Given the description of an element on the screen output the (x, y) to click on. 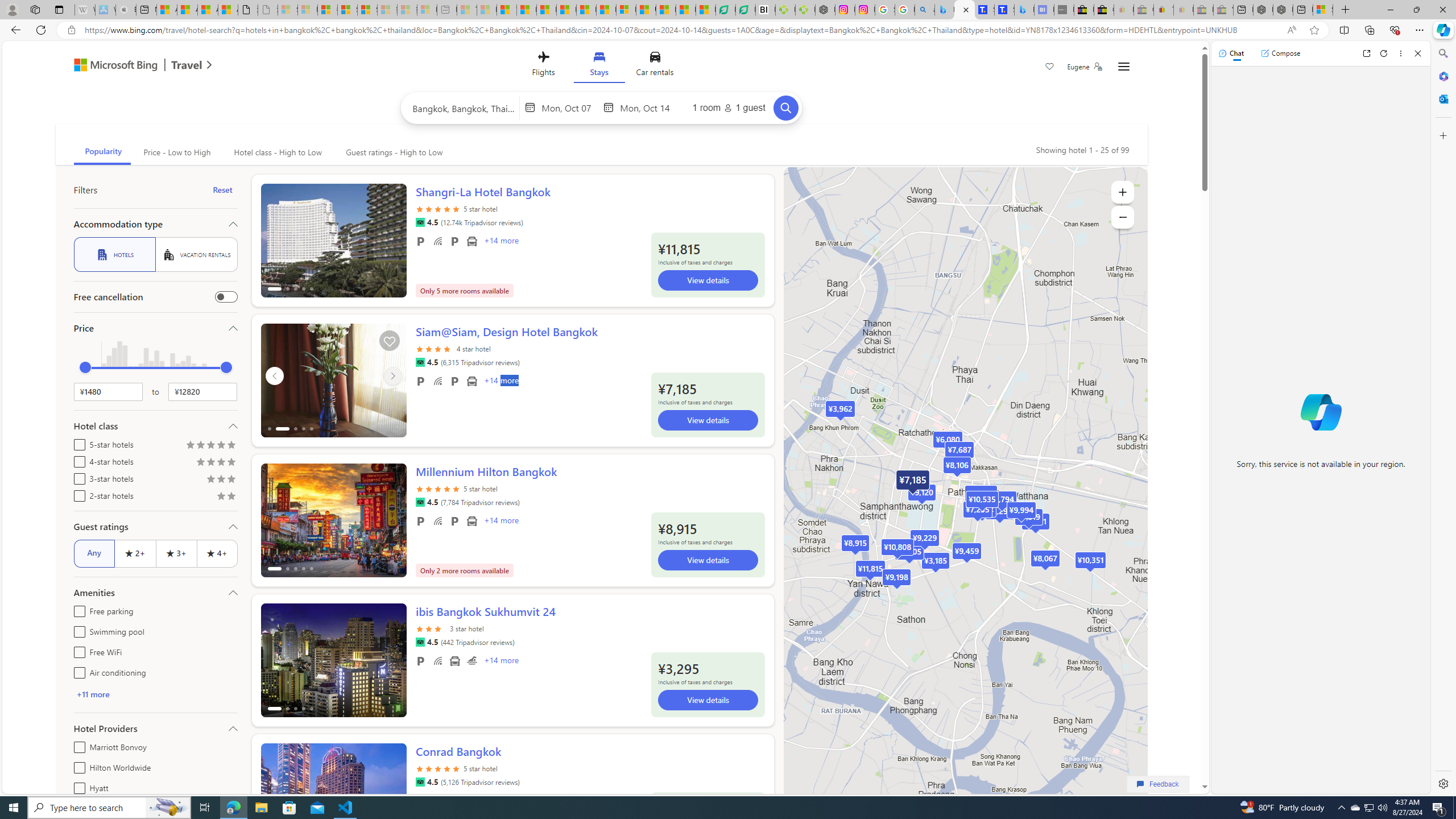
Nordace - Summer Adventures 2024 (1282, 9)
Rating (231, 496)
Aberdeen, Hong Kong SAR weather forecast | Microsoft Weather (186, 9)
2-star hotels (76, 493)
Marriott Bonvoy (76, 745)
Class: trvl-hub-header (601, 65)
Microsoft Bing Travel - Shangri-La Hotel Bangkok (1024, 9)
Nordace - Nordace Edin Collection (825, 9)
Slide 2 (478, 380)
